Given the description of an element on the screen output the (x, y) to click on. 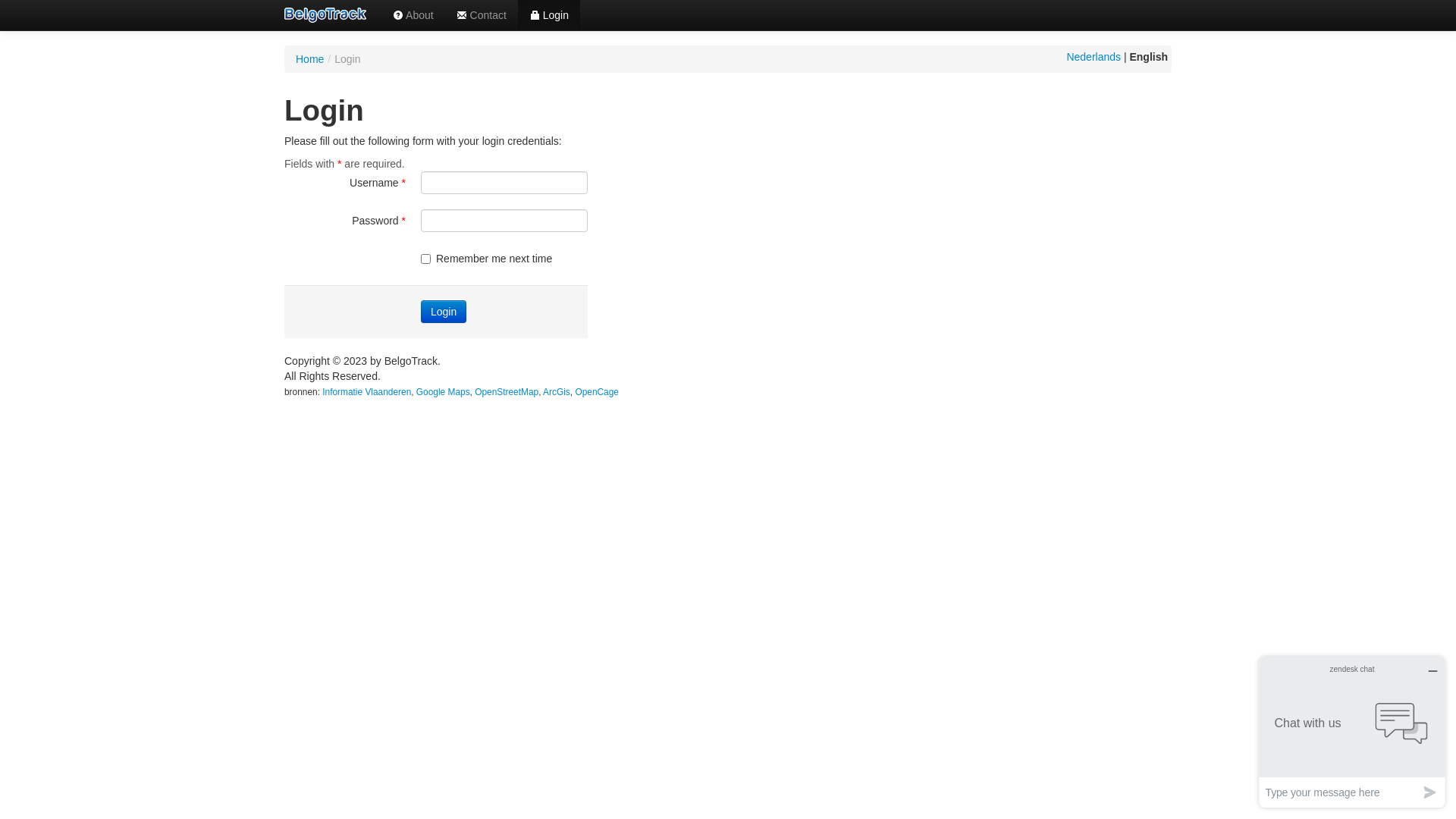
Nederlands Element type: text (1093, 56)
Login Element type: text (548, 15)
Google Maps Element type: text (443, 391)
Home Element type: text (309, 59)
Informatie Vlaanderen Element type: text (366, 391)
ArcGis Element type: text (556, 391)
Opens a widget where you can chat to one of our agents Element type: hover (1351, 731)
Login Element type: text (443, 311)
OpenStreetMap Element type: text (506, 391)
About Element type: text (413, 15)
Contact Element type: text (481, 15)
OpenCage Element type: text (596, 391)
